Given the description of an element on the screen output the (x, y) to click on. 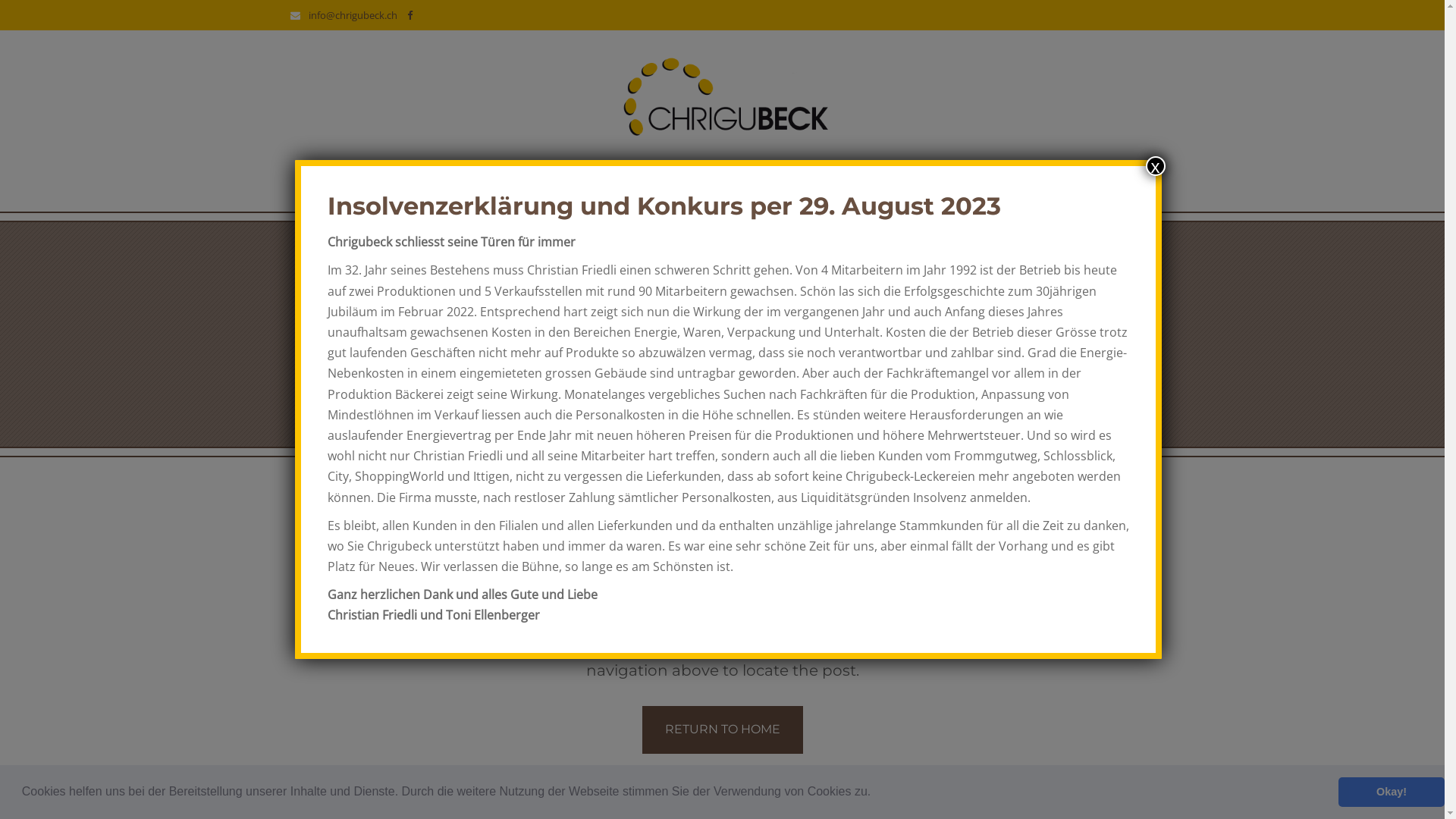
KONTAKT Element type: text (939, 177)
MENUKARTEN Element type: text (838, 177)
Okay! Element type: text (1391, 791)
DIENSTLEISTUNGEN Element type: text (704, 177)
info@chrigubeck.ch Element type: text (351, 15)
RETURN TO HOME Element type: text (721, 729)
AKTUELLES Element type: text (578, 177)
HOME Element type: text (494, 177)
x Element type: text (1154, 165)
